Given the description of an element on the screen output the (x, y) to click on. 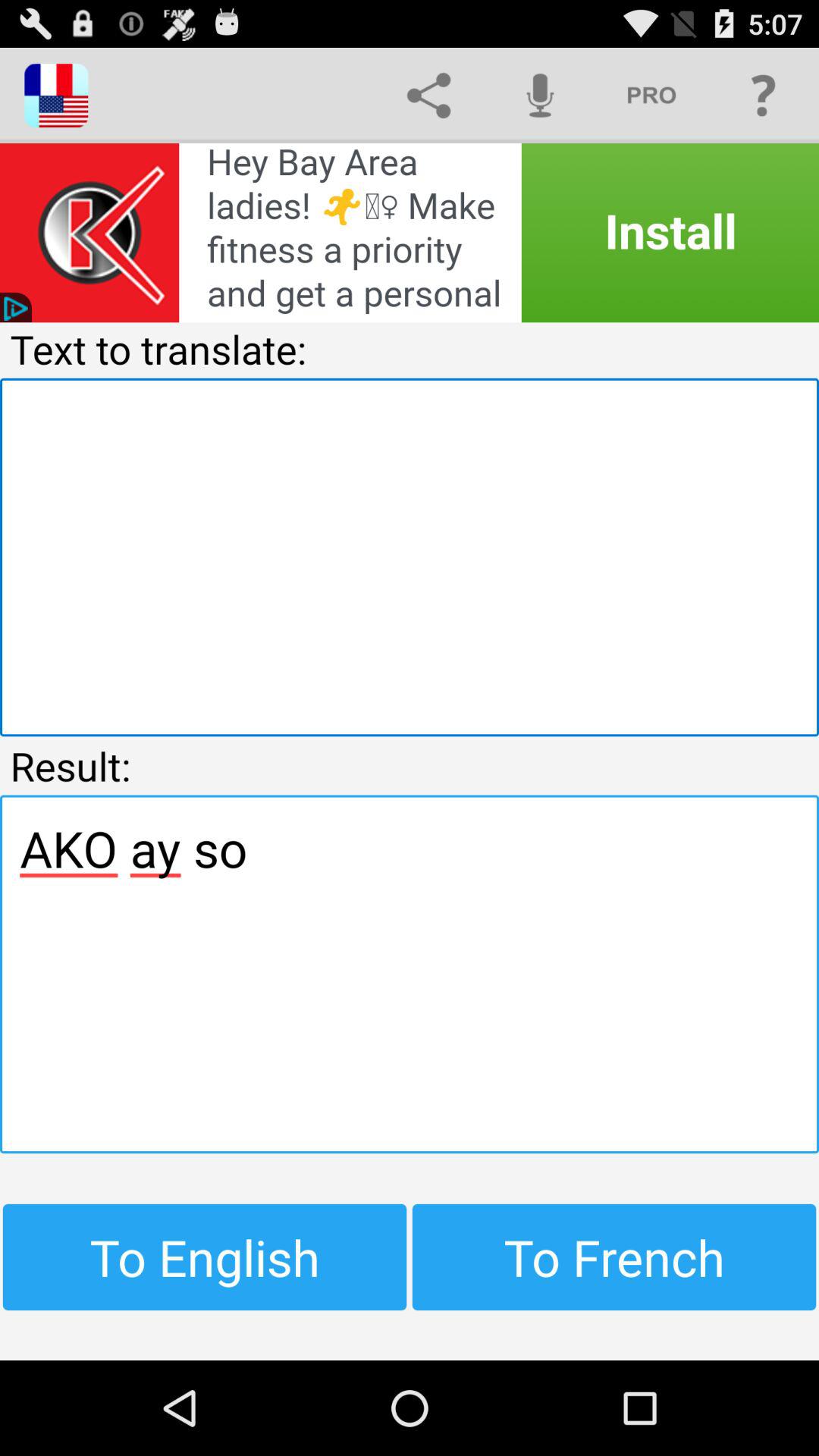
select the text beside  (651, 95)
click on the button beside to french (204, 1257)
click the button on the top right side of the web page (763, 95)
